Given the description of an element on the screen output the (x, y) to click on. 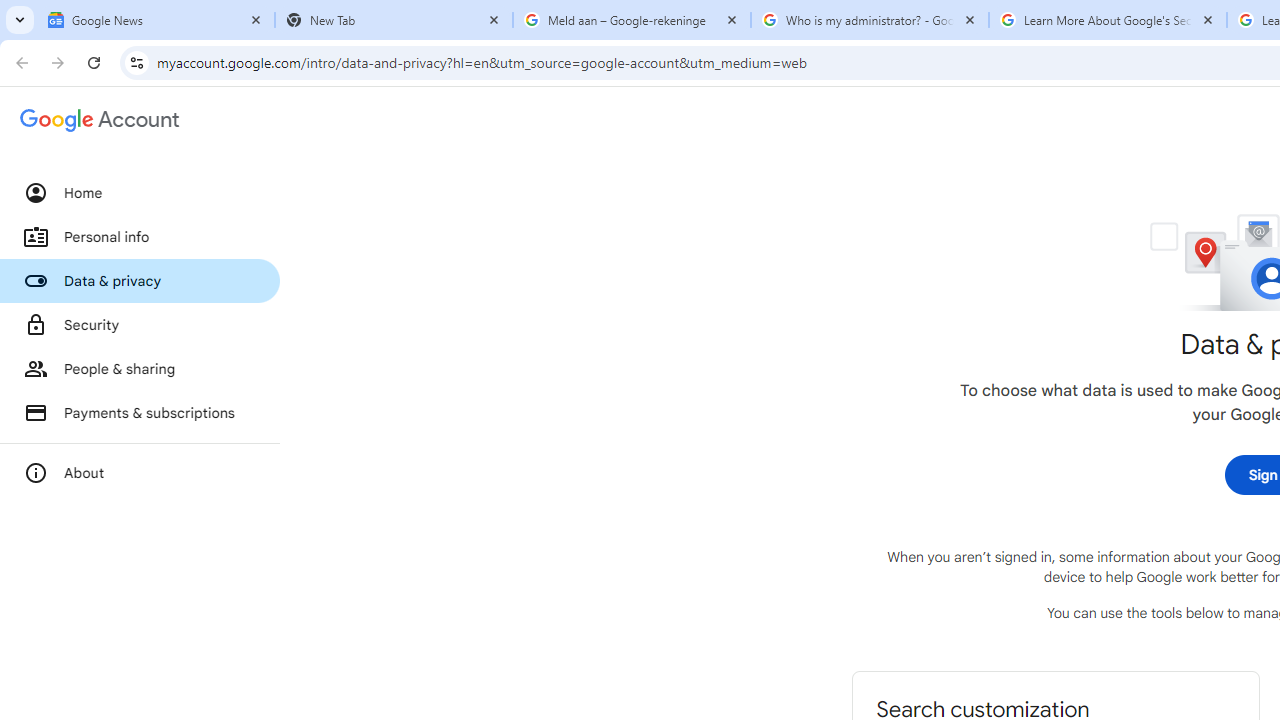
Payments & subscriptions (140, 412)
Google Account settings (100, 120)
More information about the Google Account (140, 472)
Data & privacy (140, 281)
Home (140, 193)
